Given the description of an element on the screen output the (x, y) to click on. 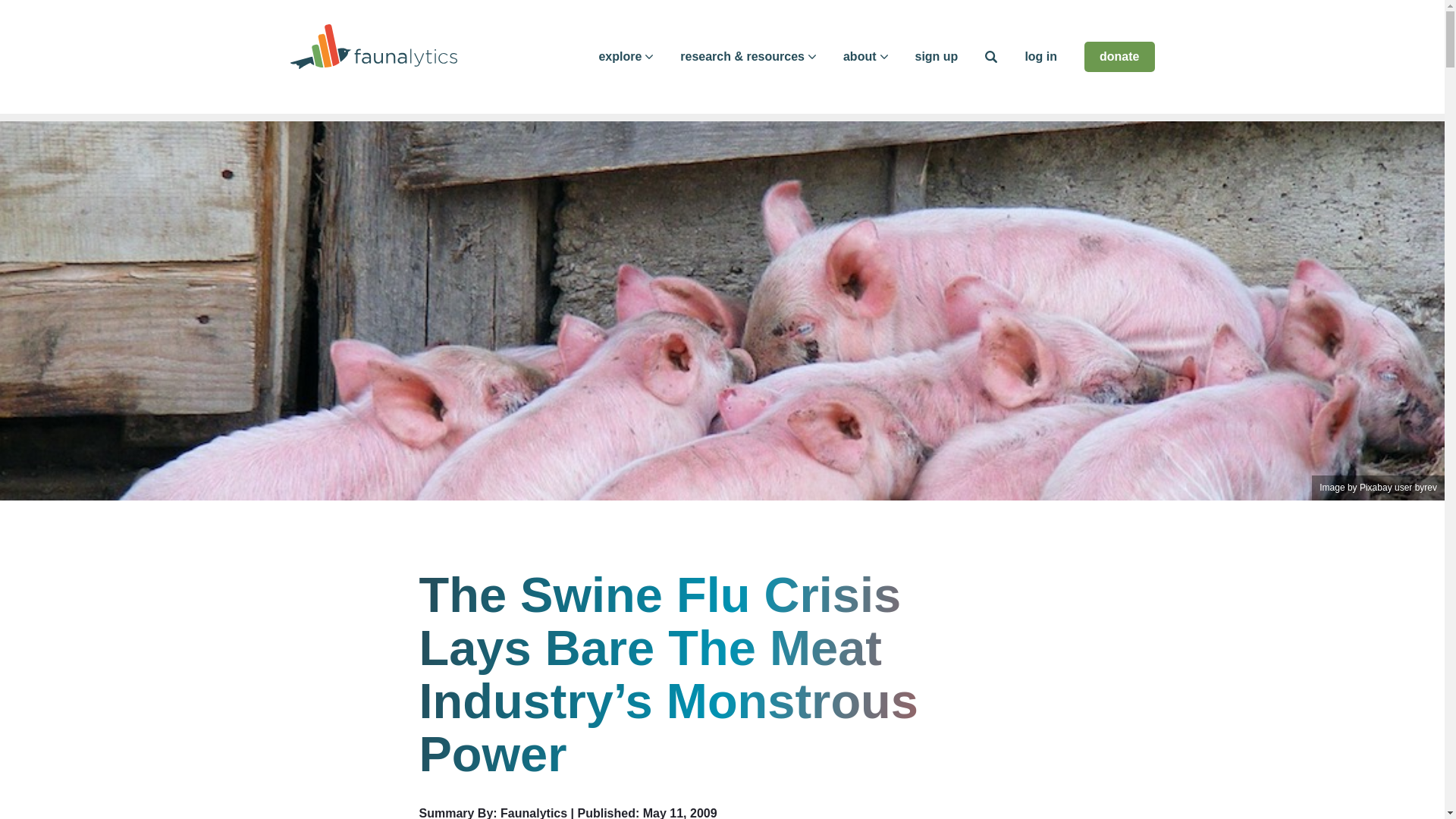
sign up (936, 56)
log in (1041, 56)
donate (1119, 56)
Posts by Faunalytics (533, 812)
